Given the description of an element on the screen output the (x, y) to click on. 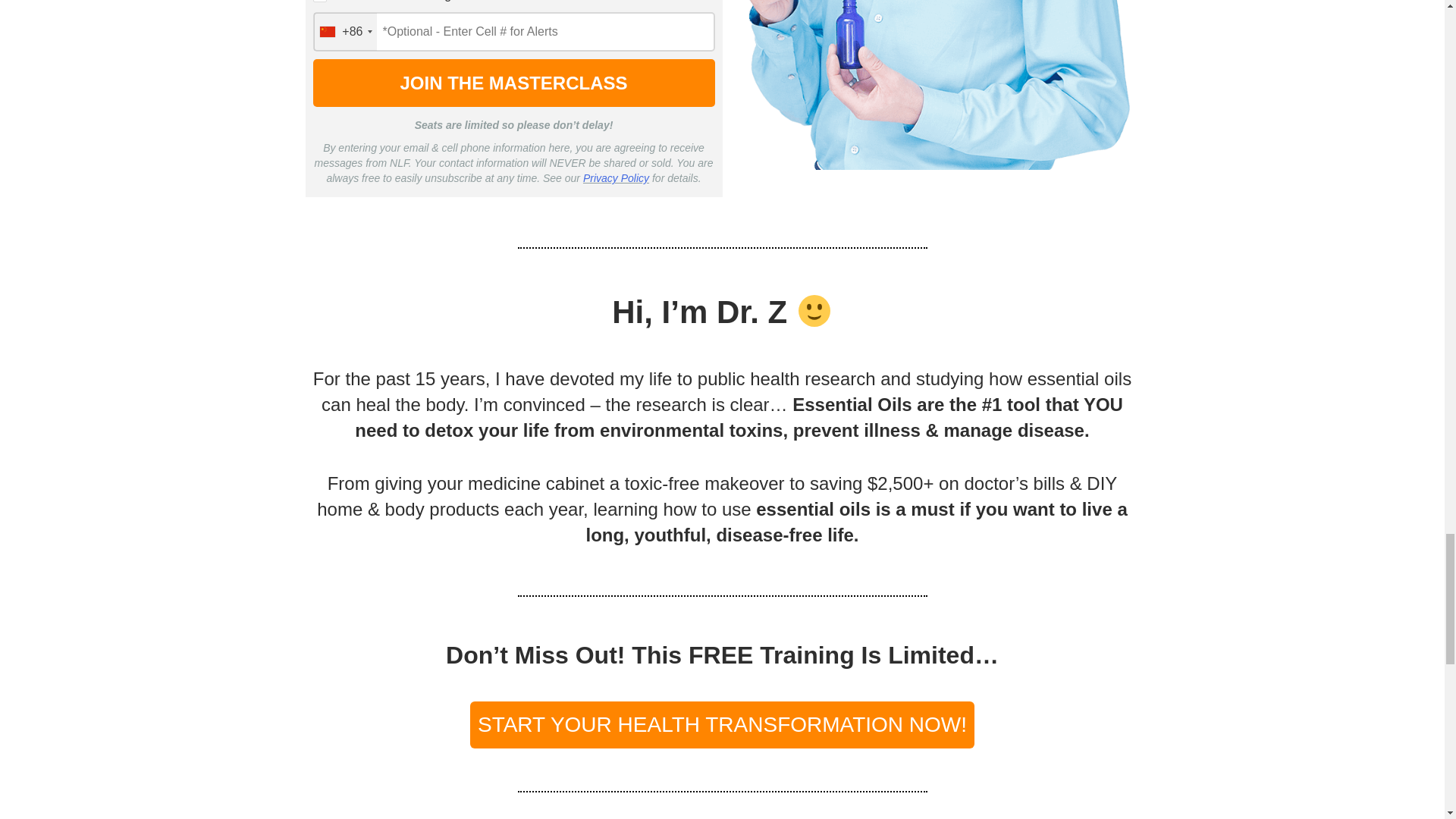
START YOUR HEALTH TRANSFORMATION NOW! (721, 725)
Privacy Policy (616, 177)
JOIN THE MASTERCLASS (513, 82)
